Given the description of an element on the screen output the (x, y) to click on. 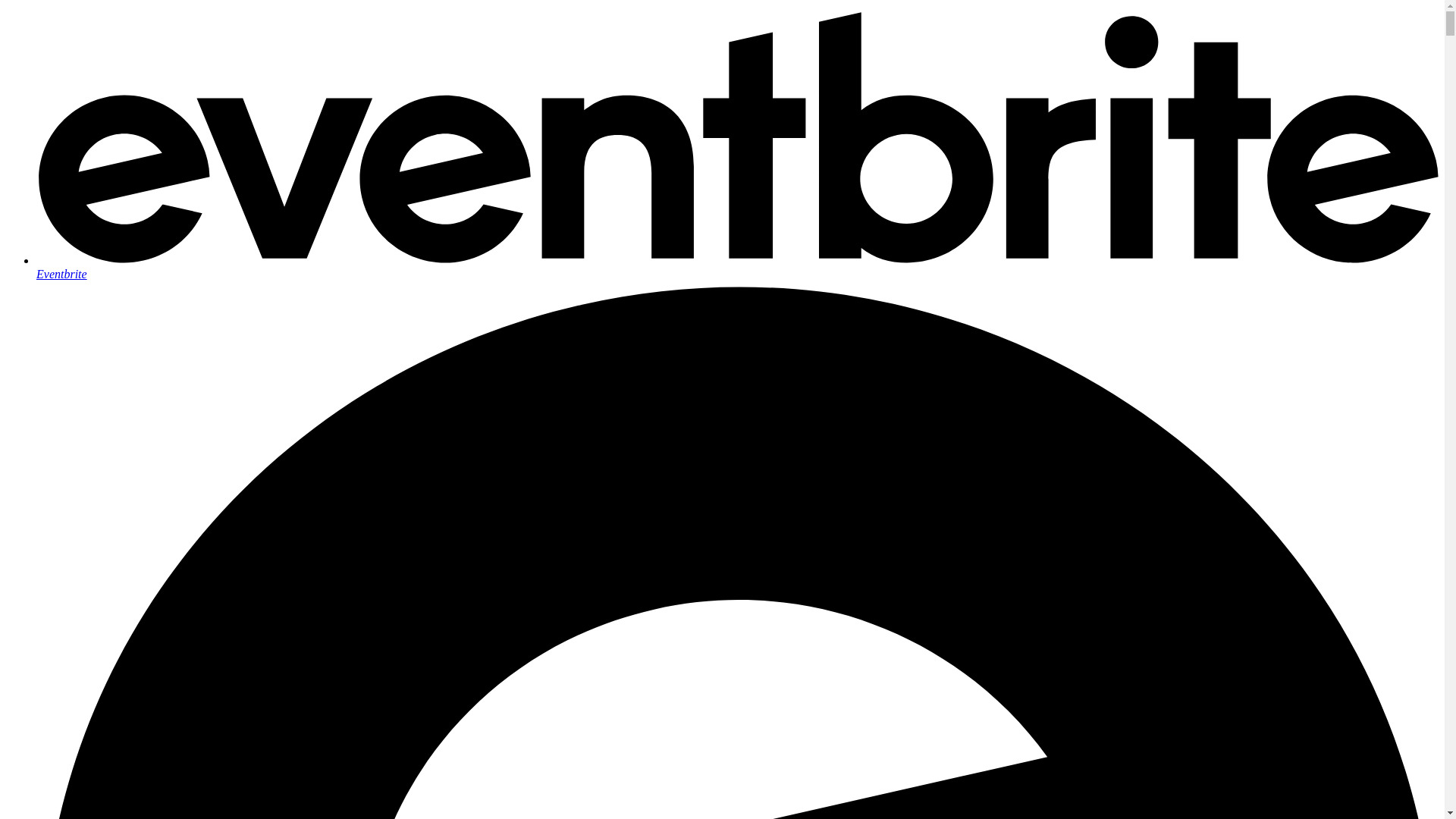
Eventbrite Element type: text (737, 267)
